Given the description of an element on the screen output the (x, y) to click on. 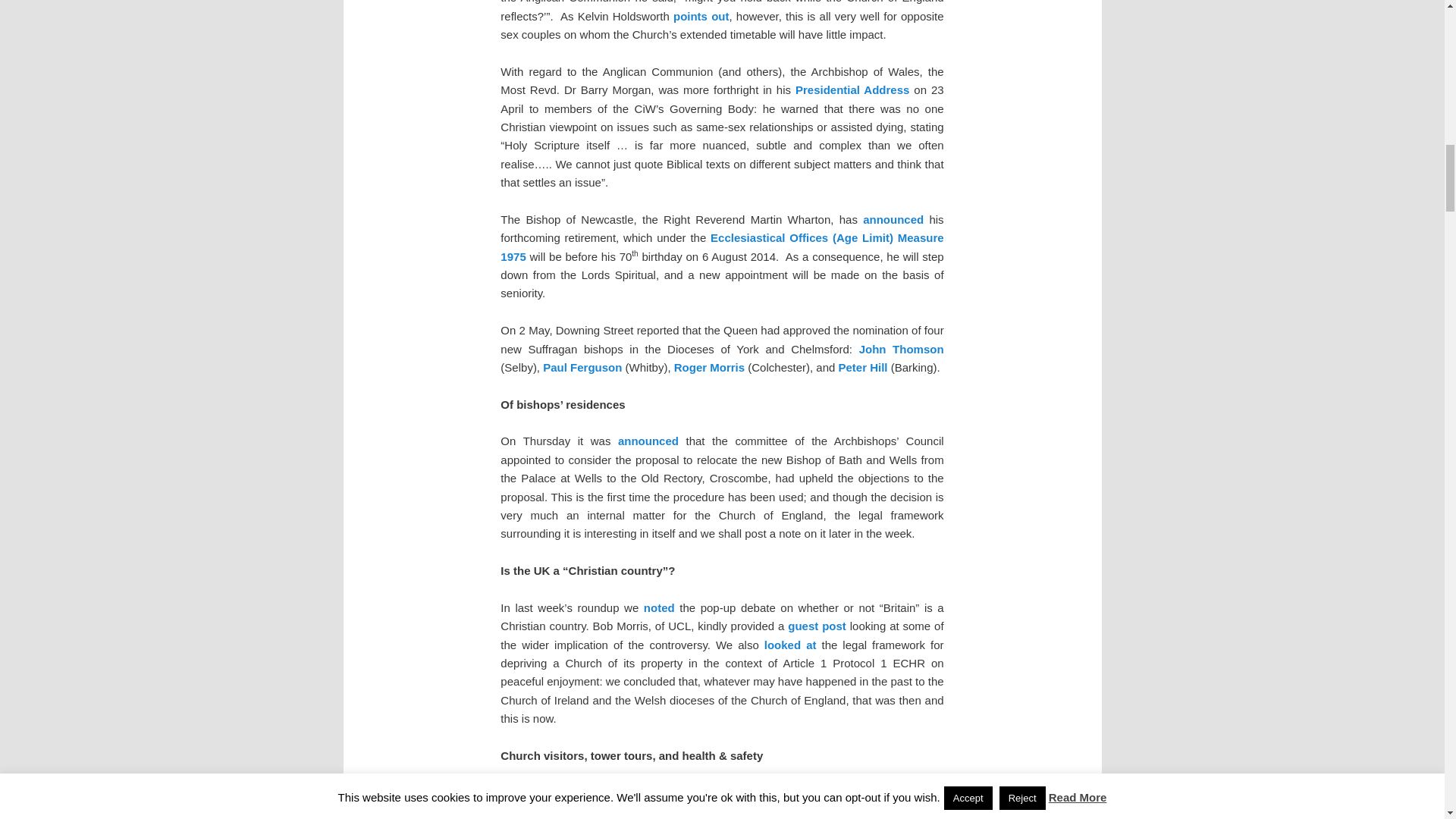
news (682, 792)
announced (893, 219)
Paul Ferguson (582, 367)
noted (659, 607)
Peter Hill (863, 367)
Presidential Address (851, 89)
announced (647, 440)
guest post (816, 625)
points out (700, 15)
looked at (790, 644)
John Thomson (901, 349)
Roger Morris (709, 367)
